Given the description of an element on the screen output the (x, y) to click on. 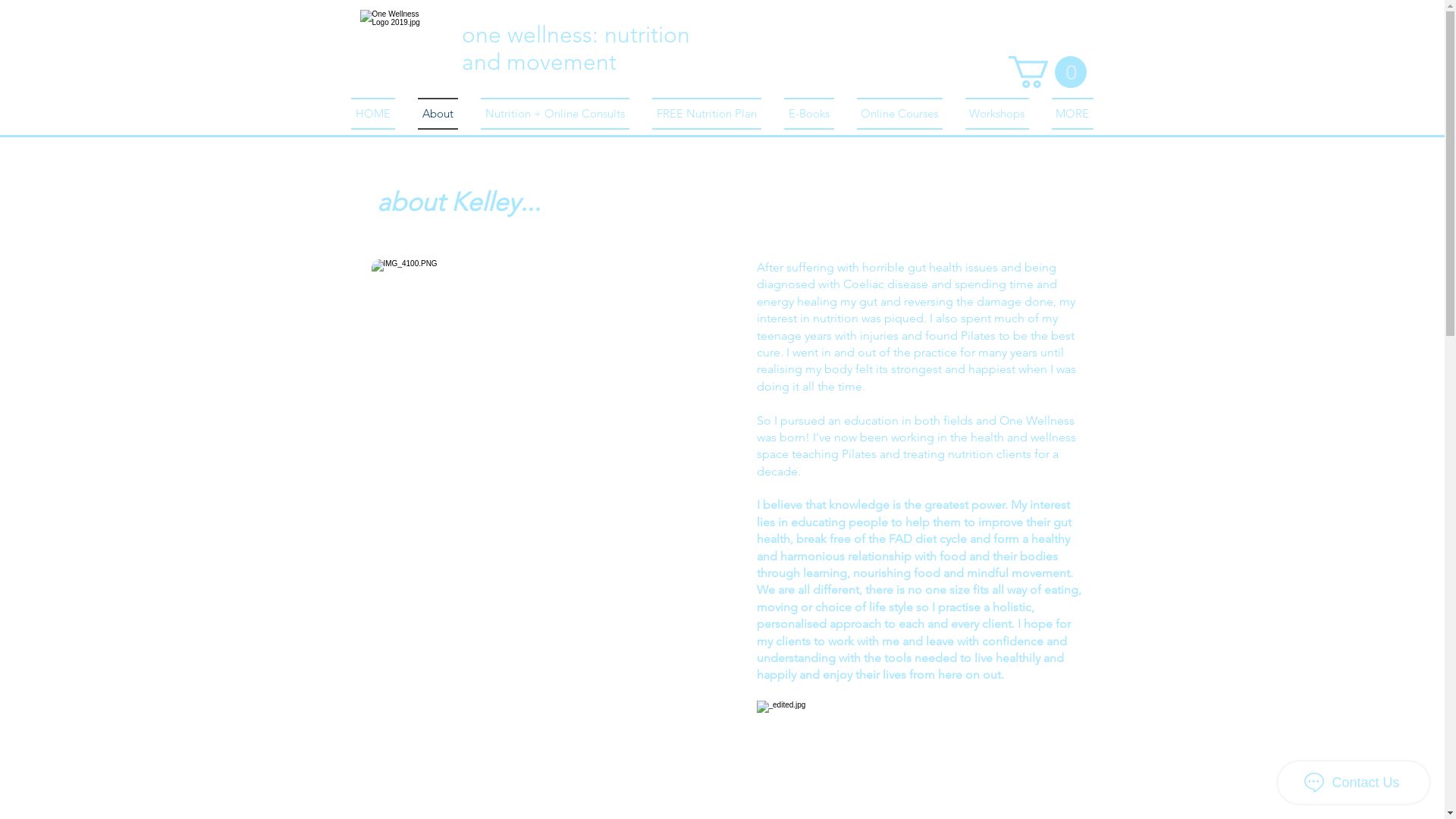
E-Books Element type: text (807, 113)
Workshops Element type: text (996, 113)
Online Courses Element type: text (898, 113)
FREE Nutrition Plan Element type: text (705, 113)
HOME Element type: text (377, 113)
Nutrition + Online Consults Element type: text (554, 113)
0 Element type: text (1047, 71)
About Element type: text (437, 113)
